Given the description of an element on the screen output the (x, y) to click on. 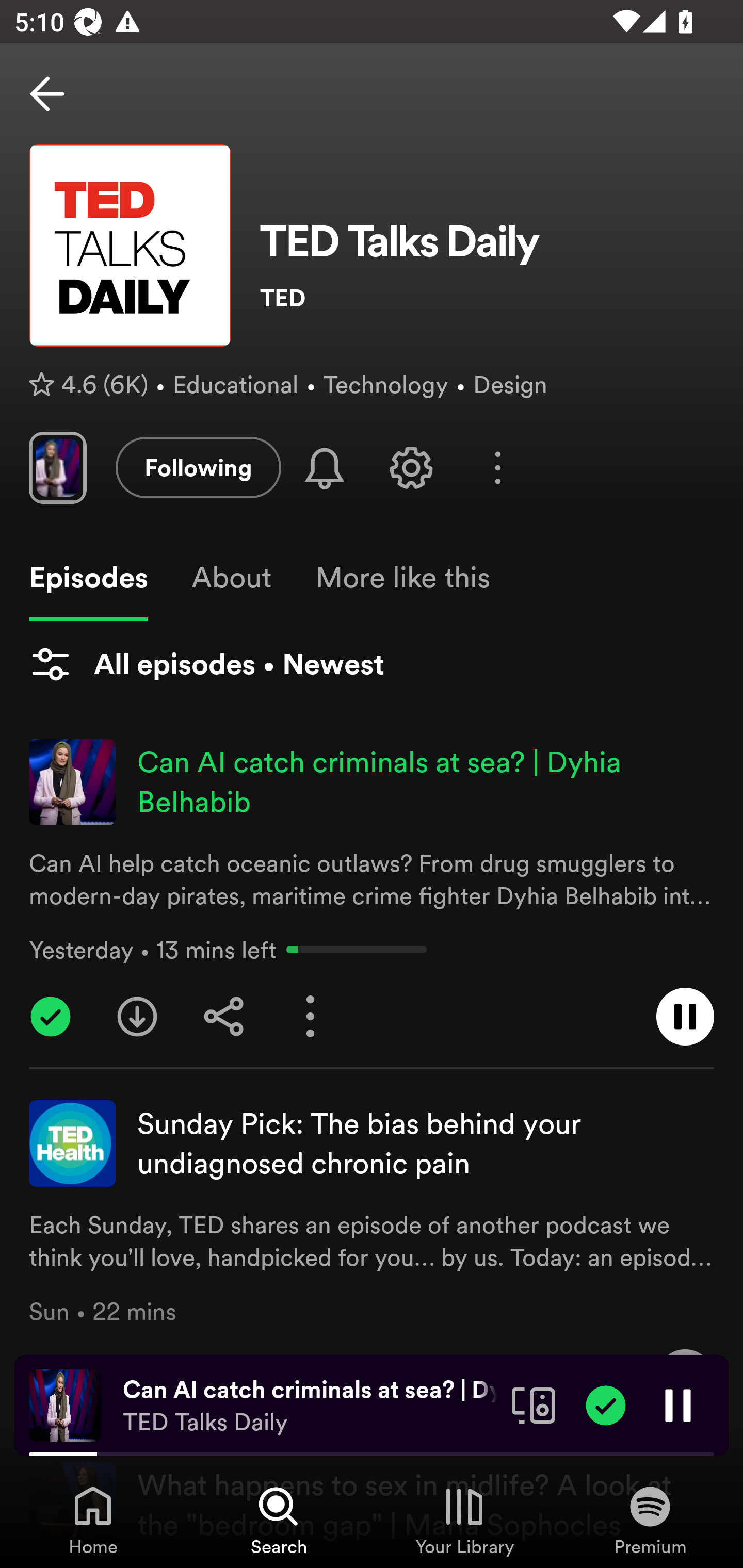
Back (46, 93)
TED (487, 297)
Following Unfollow this show (197, 466)
Settings for this Show. (410, 467)
More options for show TED Talks Daily (497, 467)
About (231, 577)
More like this (402, 577)
All episodes • Newest (206, 663)
Share (223, 1016)
The cover art of the currently playing track (64, 1404)
Connect to a device. Opens the devices menu (533, 1404)
Item added (605, 1404)
Pause (677, 1404)
Home, Tab 1 of 4 Home Home (92, 1519)
Search, Tab 2 of 4 Search Search (278, 1519)
Your Library, Tab 3 of 4 Your Library Your Library (464, 1519)
Premium, Tab 4 of 4 Premium Premium (650, 1519)
